Given the description of an element on the screen output the (x, y) to click on. 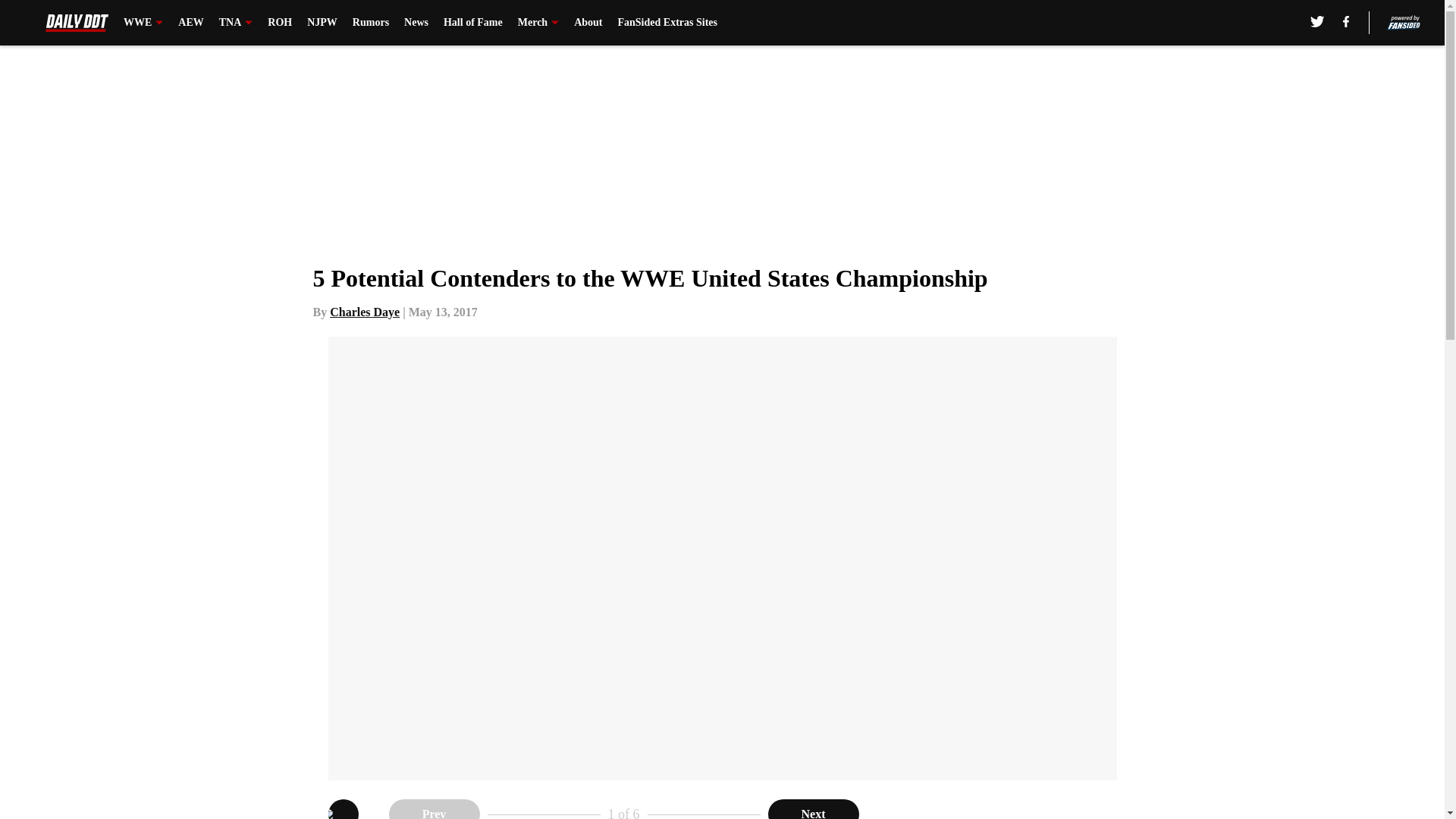
About (587, 22)
ROH (279, 22)
Next (813, 809)
NJPW (322, 22)
AEW (190, 22)
Charles Daye (364, 311)
Rumors (370, 22)
Prev (433, 809)
Hall of Fame (473, 22)
FanSided Extras Sites (666, 22)
